Given the description of an element on the screen output the (x, y) to click on. 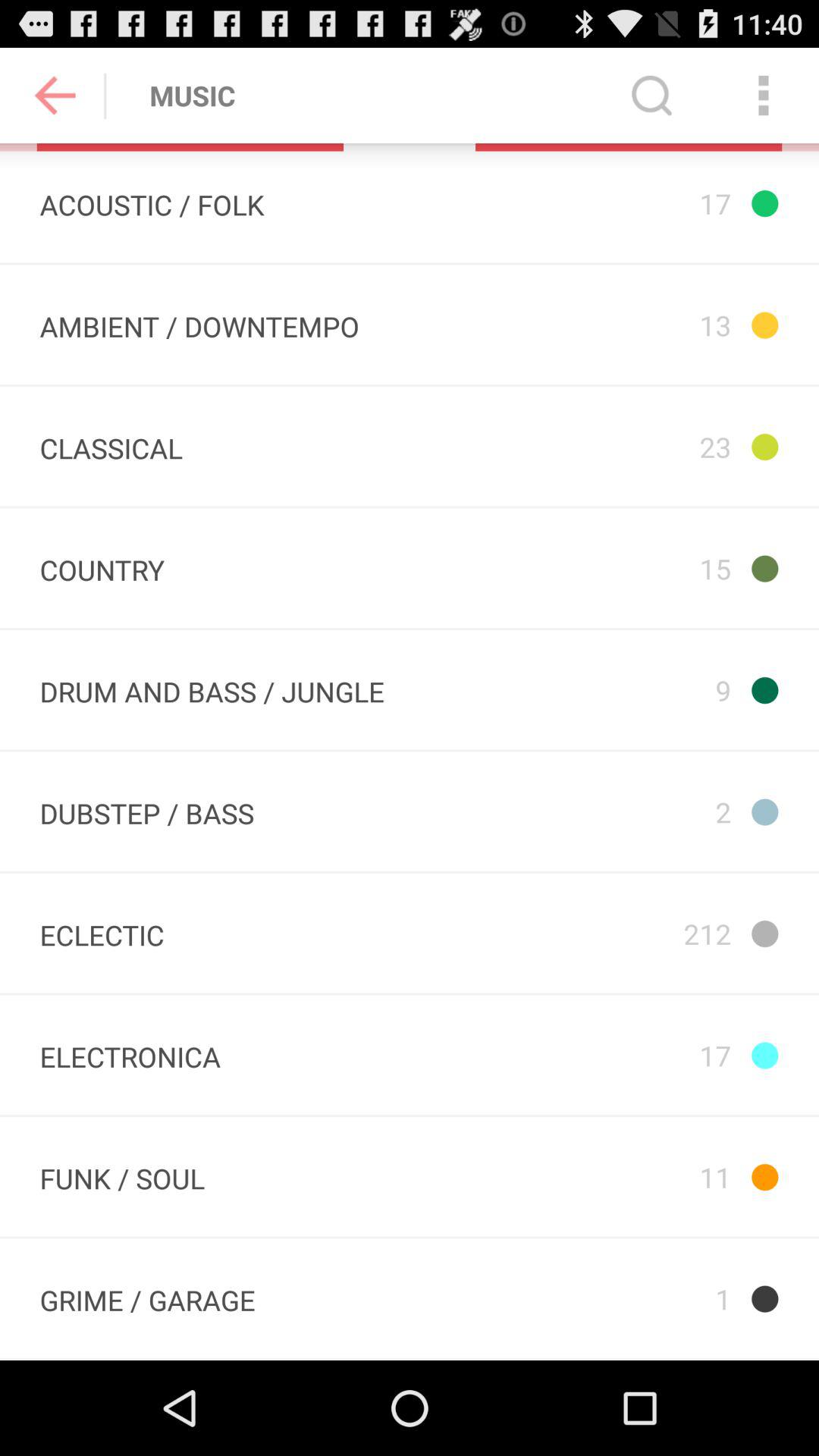
choose icon to the right of the ambient / downtempo item (644, 324)
